Given the description of an element on the screen output the (x, y) to click on. 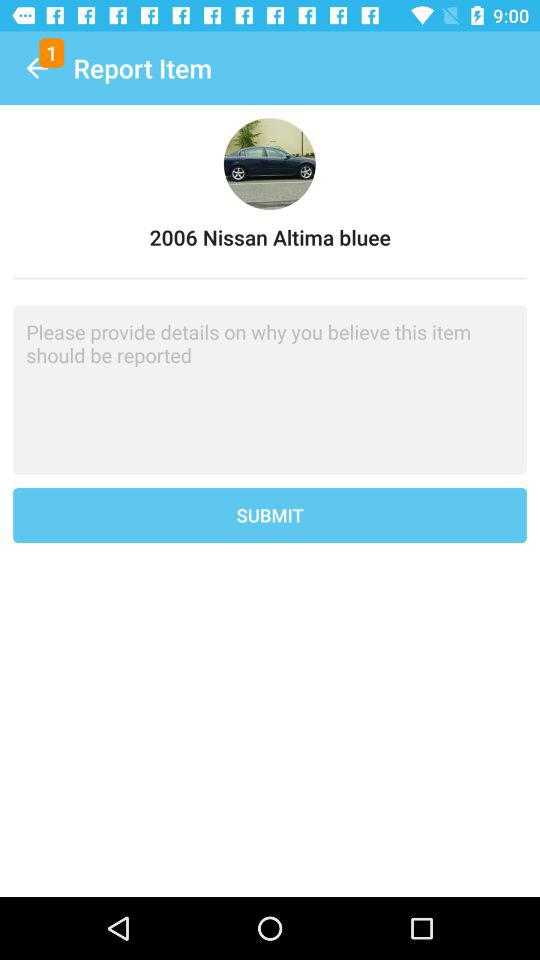
click the item above 2006 nissan altima item (36, 68)
